Given the description of an element on the screen output the (x, y) to click on. 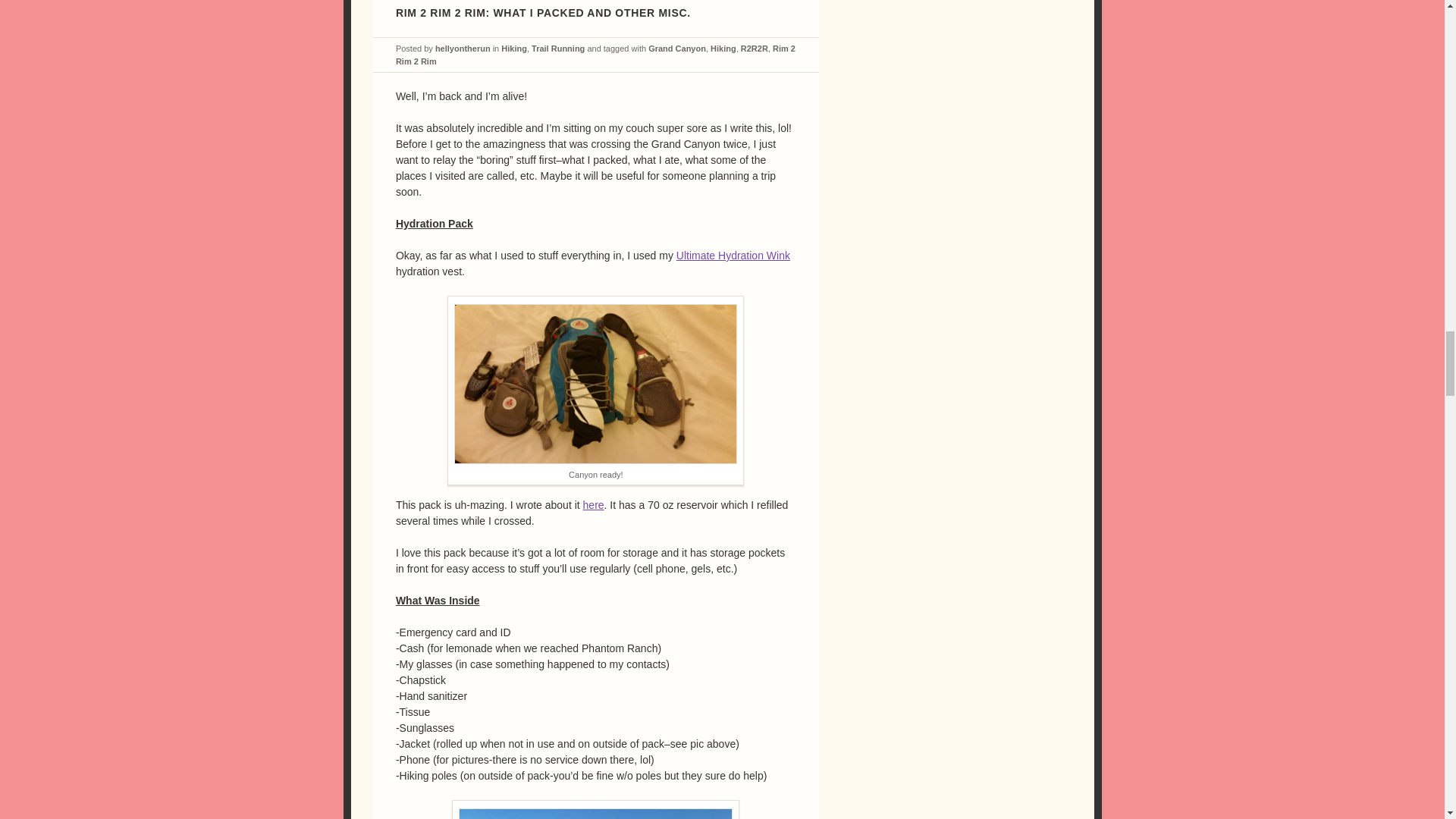
hellyontherun (462, 48)
RIM 2 RIM 2 RIM: WHAT I PACKED AND OTHER MISC. (543, 12)
Hiking (513, 48)
View all posts by hellyontherun (462, 48)
Grand Canyon (676, 48)
Hiking (723, 48)
Trail Running (558, 48)
